Given the description of an element on the screen output the (x, y) to click on. 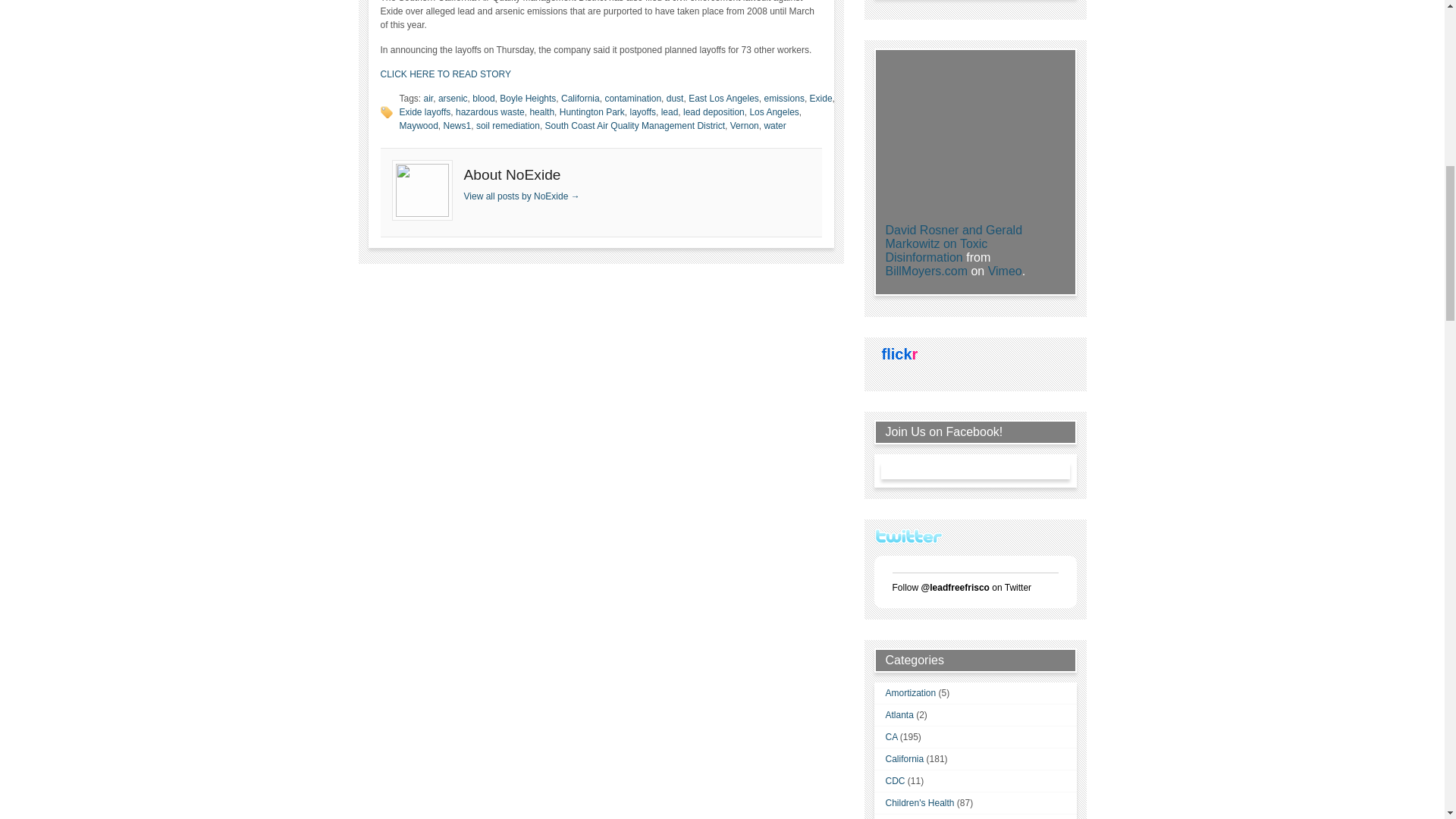
CLICK HERE TO READ STORY (446, 73)
contamination (632, 98)
arsenic (452, 98)
blood (483, 98)
Boyle Heights (527, 98)
California (579, 98)
dust (675, 98)
air (428, 98)
